Given the description of an element on the screen output the (x, y) to click on. 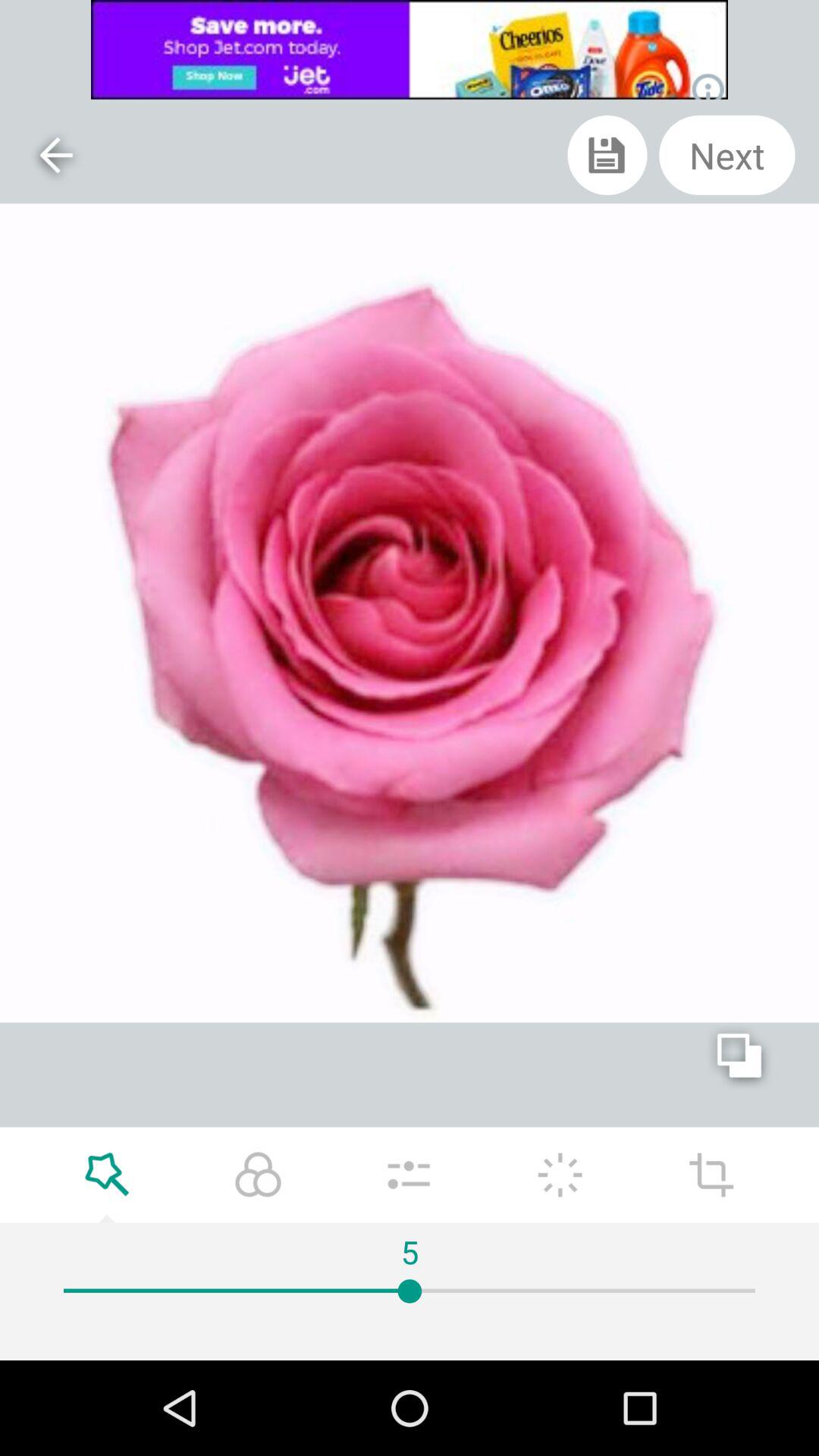
rotate images (711, 1174)
